Given the description of an element on the screen output the (x, y) to click on. 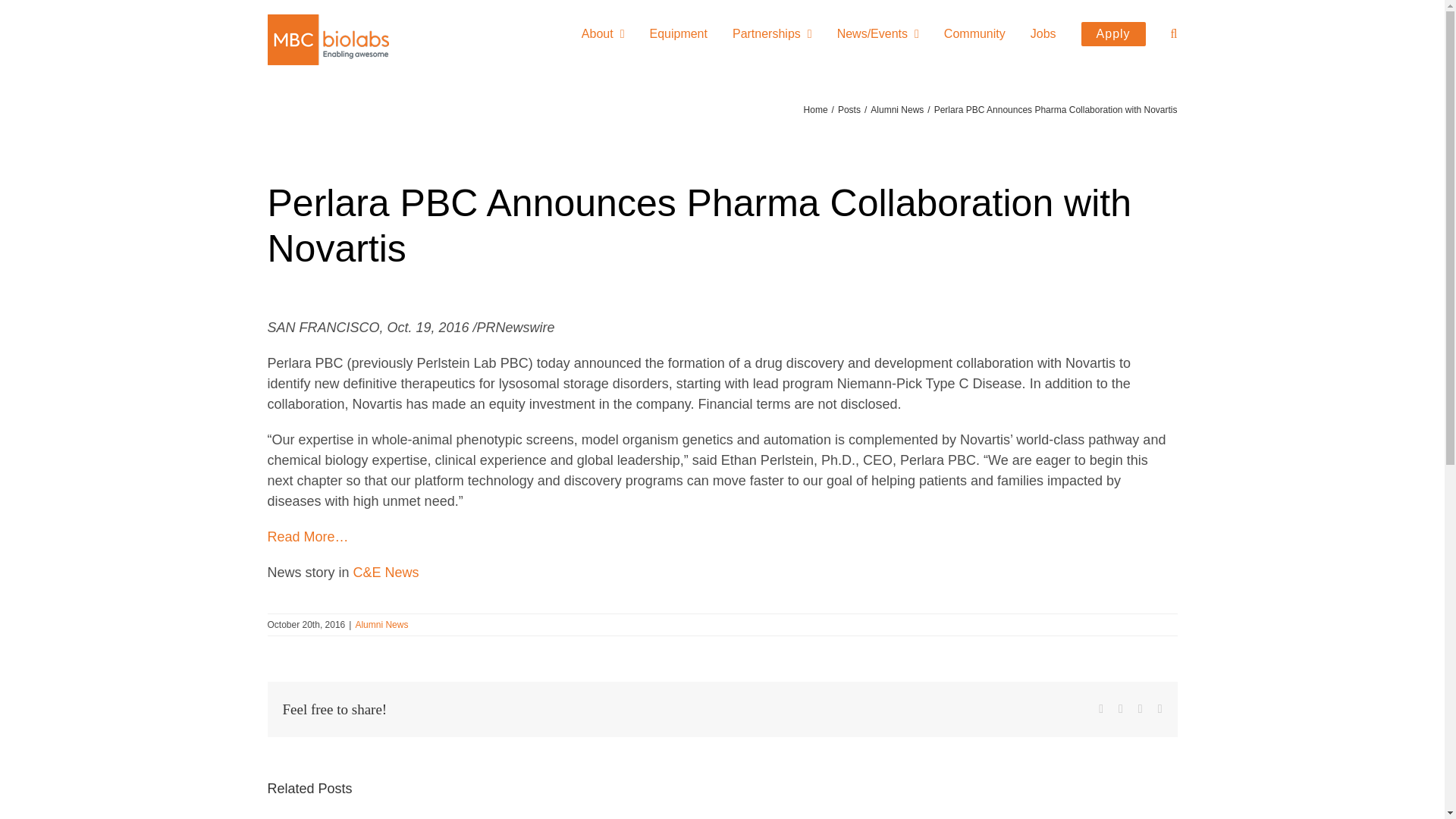
Partnerships (772, 34)
Equipment (678, 34)
Apply (1113, 34)
Community (974, 34)
